Given the description of an element on the screen output the (x, y) to click on. 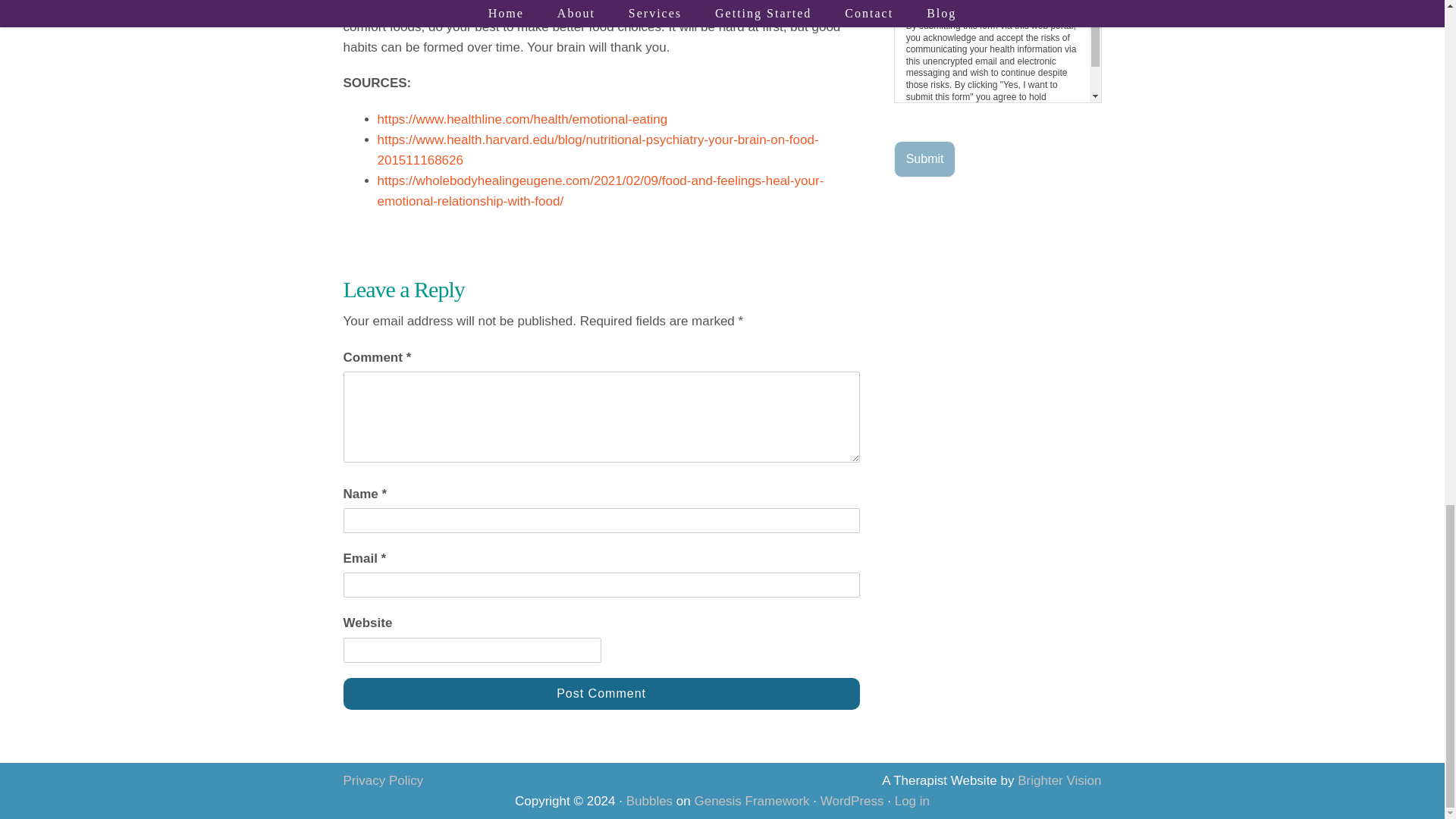
WordPress (852, 800)
Submit (924, 158)
Bubbles (649, 800)
Brighter Vision (1058, 780)
Genesis Framework (751, 800)
Post Comment (600, 694)
Post Comment (600, 694)
Privacy Policy (382, 780)
